Given the description of an element on the screen output the (x, y) to click on. 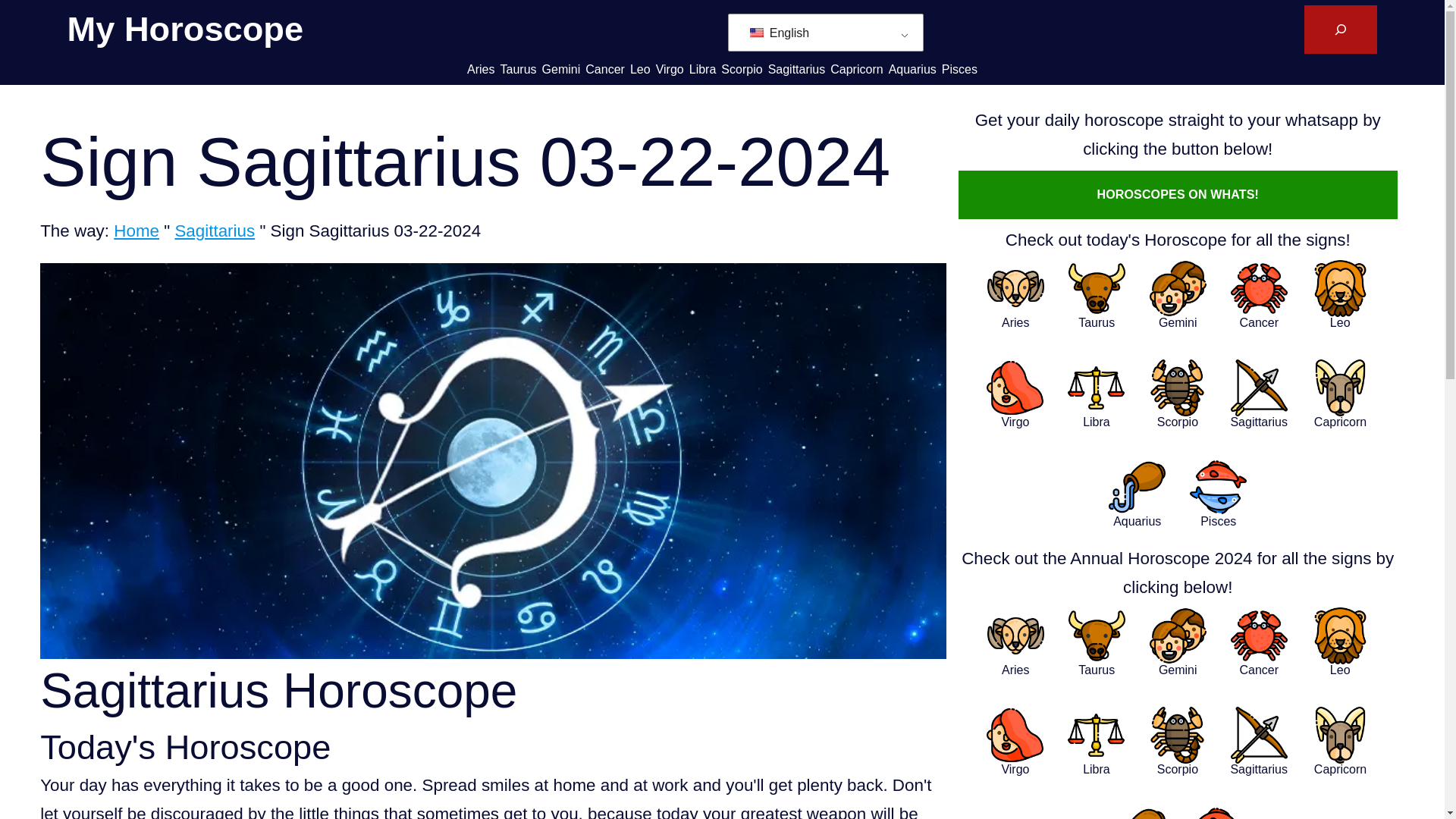
Virgo (670, 68)
My Horoscope (184, 28)
English (822, 32)
Capricorn (855, 68)
Leo (640, 68)
Sagittarius (796, 68)
Home (135, 230)
Pisces (959, 68)
Scorpio (740, 68)
HOROSCOPES ON WHATS! (1177, 194)
